Given the description of an element on the screen output the (x, y) to click on. 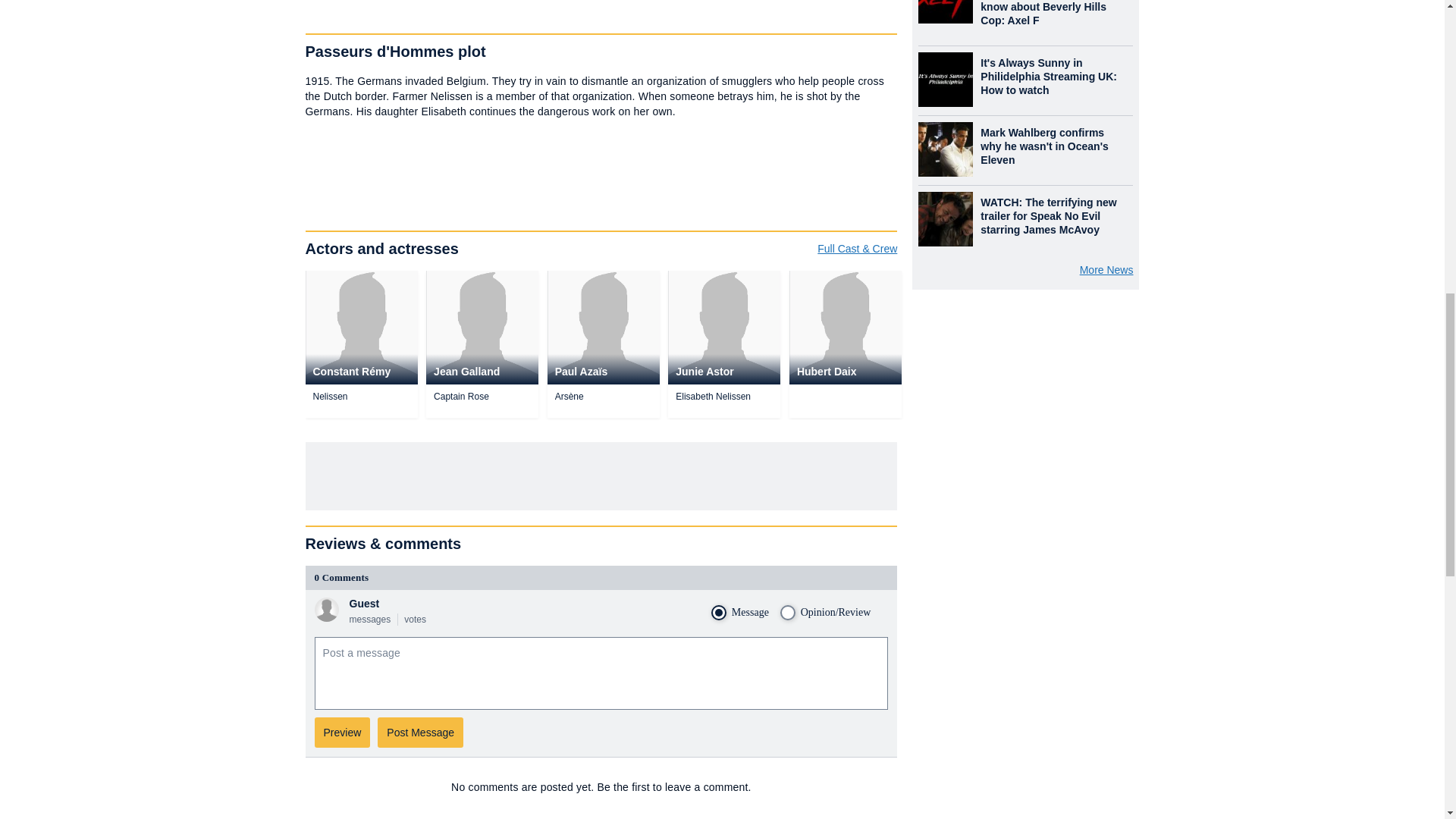
Post Message (420, 732)
Preview (341, 732)
